Given the description of an element on the screen output the (x, y) to click on. 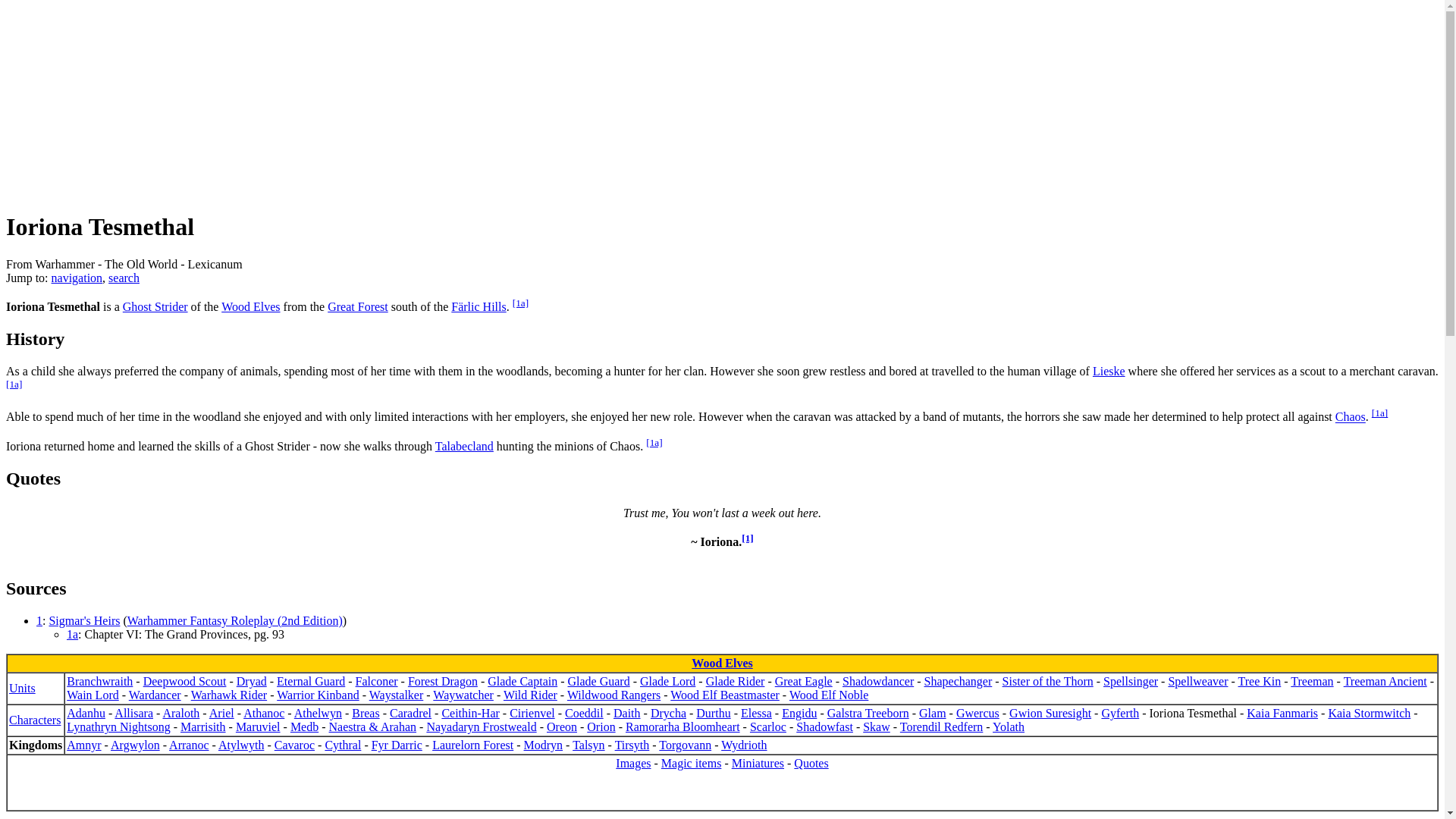
Sigmar's Heirs (83, 620)
navigation (76, 277)
Great Forest (357, 306)
Sigmar's Heirs (83, 620)
Shadowdancer (878, 680)
Deepwood Scout (184, 680)
Falconer (376, 680)
Spellsinger (1130, 680)
Glade Rider (735, 680)
Lieske (1109, 370)
Wood Elves (721, 662)
Tree Kin (1260, 680)
Shapechanger (958, 680)
Talabecland (464, 445)
Great Forest (357, 306)
